Given the description of an element on the screen output the (x, y) to click on. 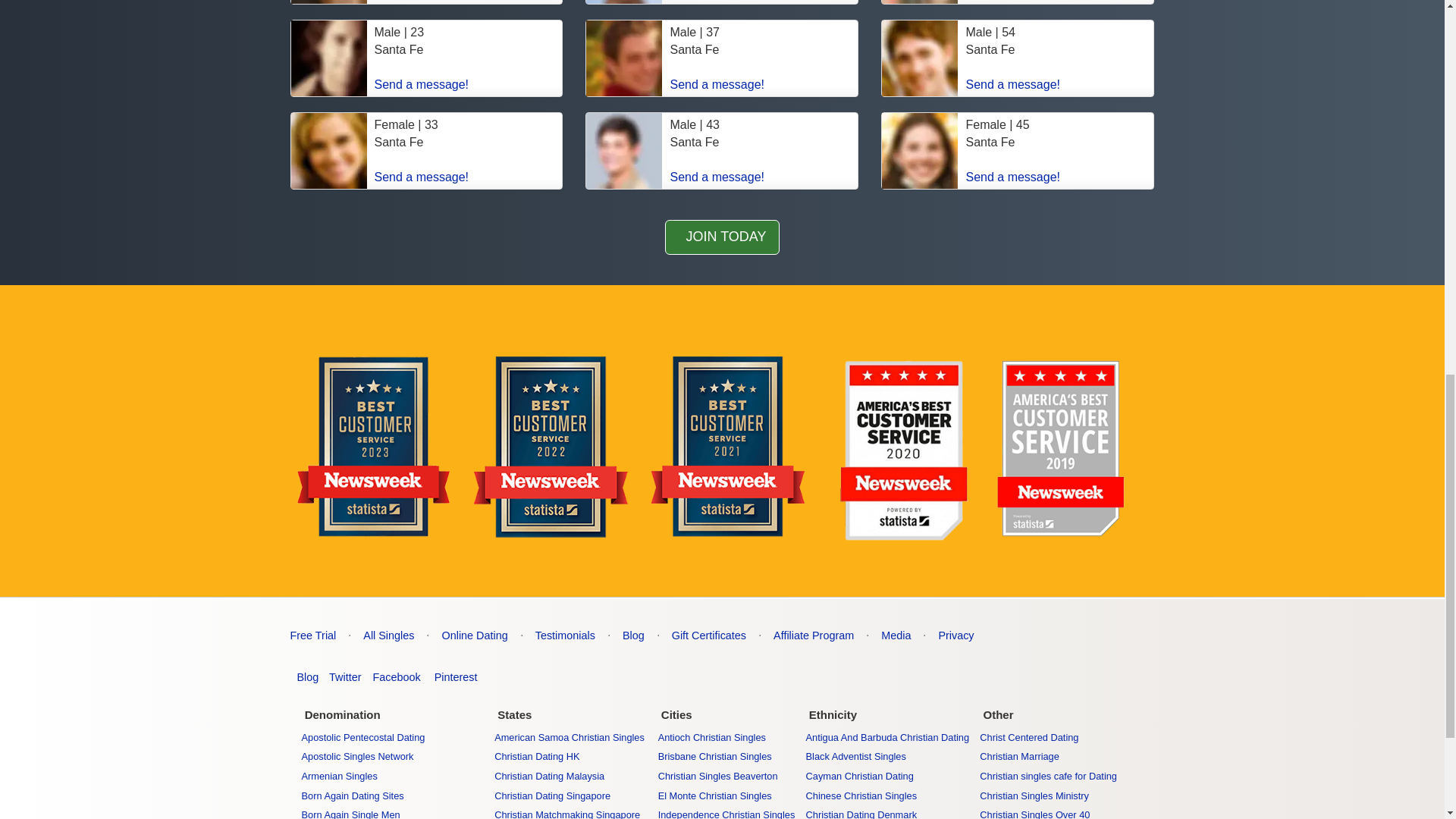
Facebook (394, 676)
Blog (303, 676)
Gift Certificates (708, 635)
Blog (634, 635)
Pinterest (452, 676)
Testimonials (565, 635)
Send a message! (716, 176)
Affiliate Program (813, 635)
 JOIN TODAY (721, 237)
Privacy (955, 635)
